Given the description of an element on the screen output the (x, y) to click on. 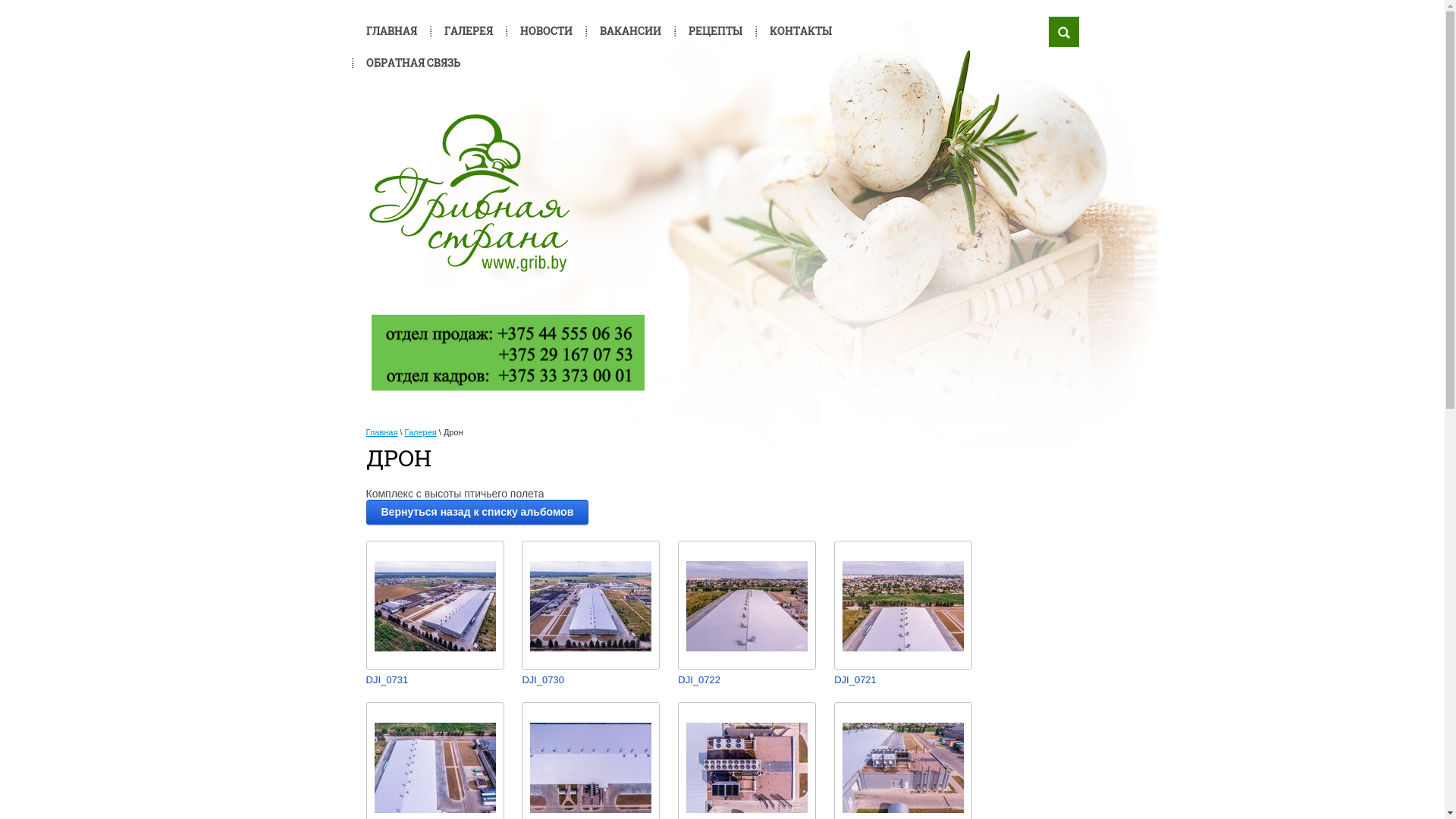
DJI_0722 Element type: text (741, 680)
DJI_0730 Element type: text (585, 680)
DJI_0731 Element type: text (429, 680)
DJI_0721 Element type: text (898, 680)
